Given the description of an element on the screen output the (x, y) to click on. 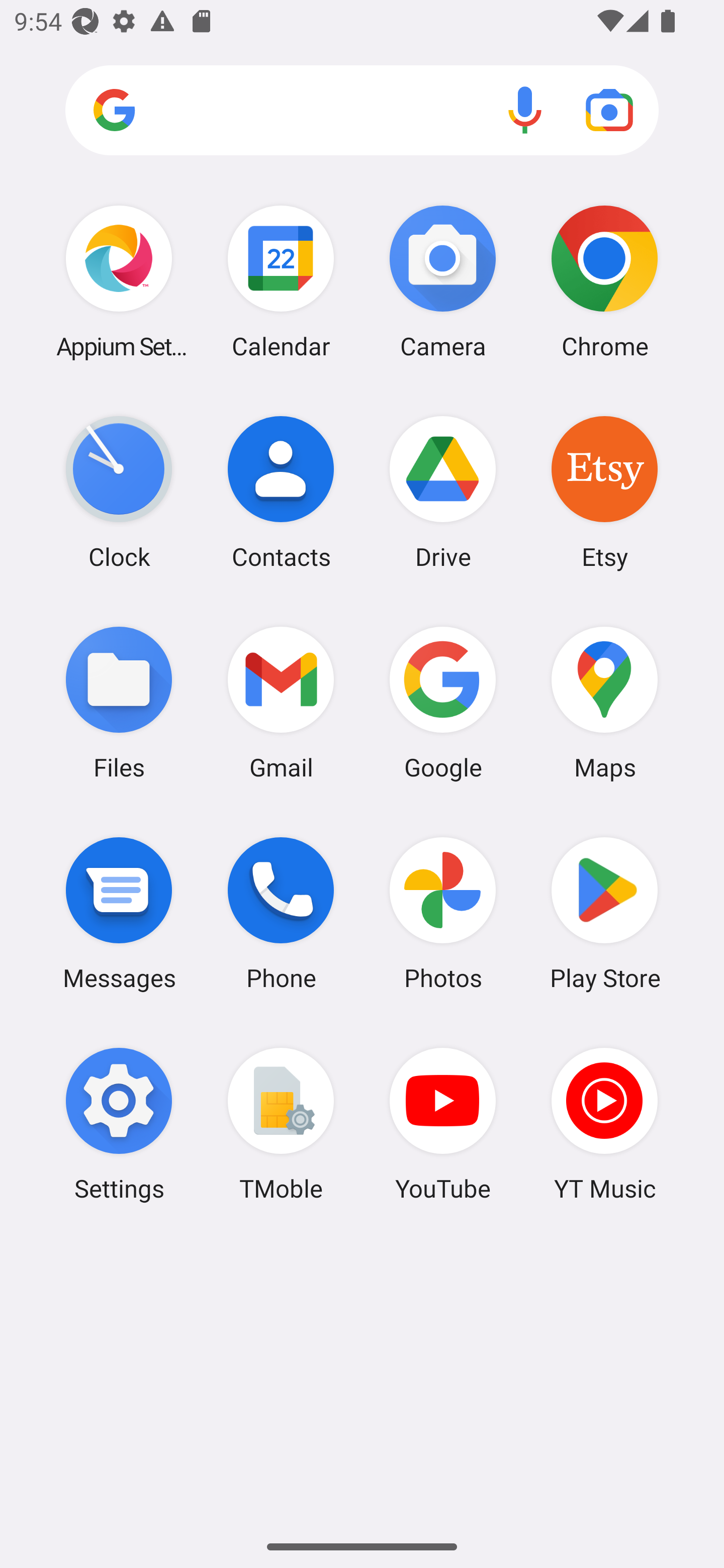
Search apps, web and more (361, 110)
Voice search (524, 109)
Google Lens (608, 109)
Appium Settings (118, 281)
Calendar (280, 281)
Camera (443, 281)
Chrome (604, 281)
Clock (118, 492)
Contacts (280, 492)
Drive (443, 492)
Etsy (604, 492)
Files (118, 702)
Gmail (280, 702)
Google (443, 702)
Maps (604, 702)
Messages (118, 913)
Phone (280, 913)
Photos (443, 913)
Play Store (604, 913)
Settings (118, 1124)
TMoble (280, 1124)
YouTube (443, 1124)
YT Music (604, 1124)
